Given the description of an element on the screen output the (x, y) to click on. 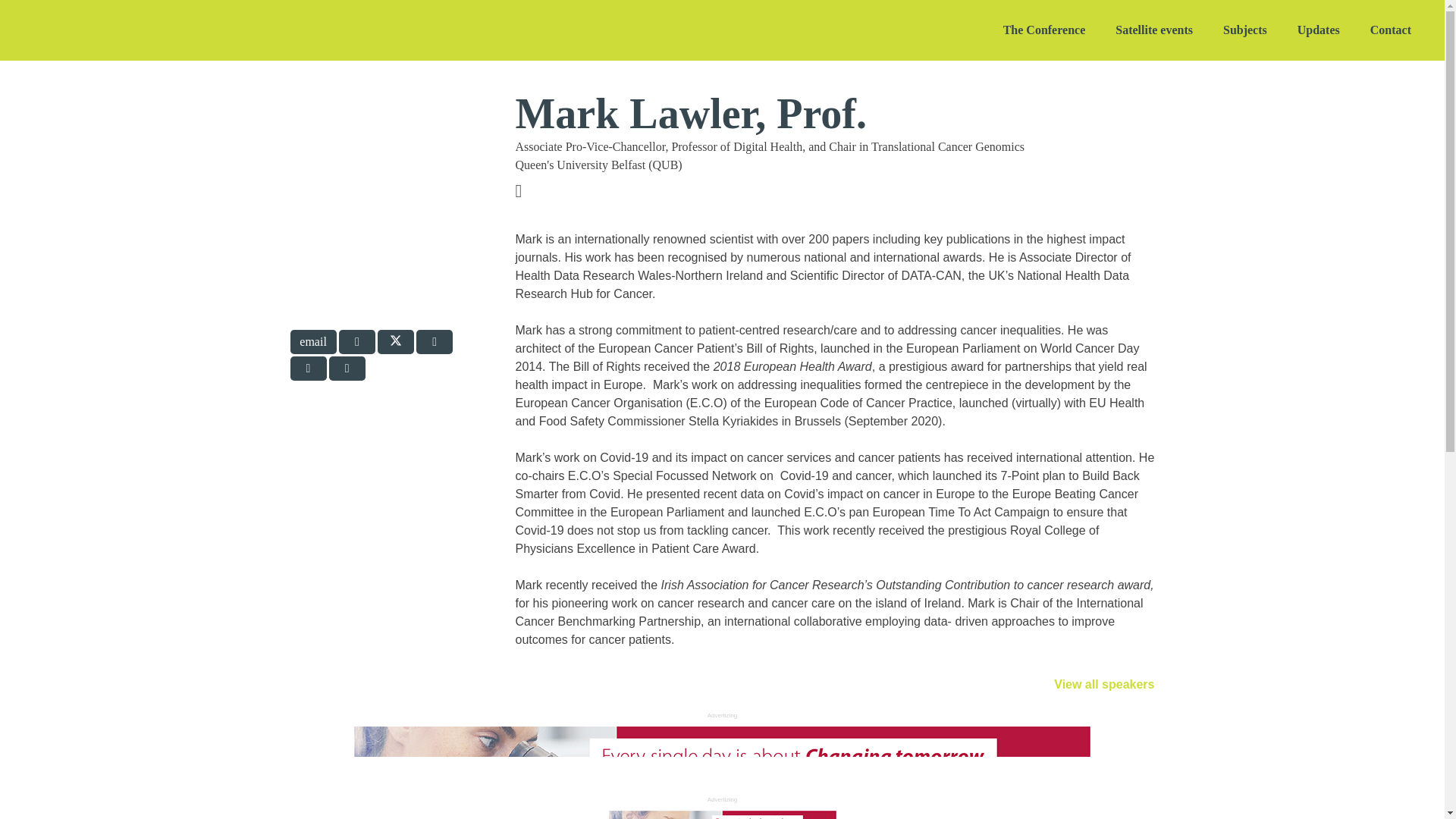
Satellite events (1154, 30)
Share this (347, 368)
The Conference (1044, 30)
Email this (312, 341)
Subjects (1245, 30)
Updates (1318, 30)
Tweet this (395, 341)
Share this (307, 368)
Speakers (1104, 684)
Share this (434, 341)
